Given the description of an element on the screen output the (x, y) to click on. 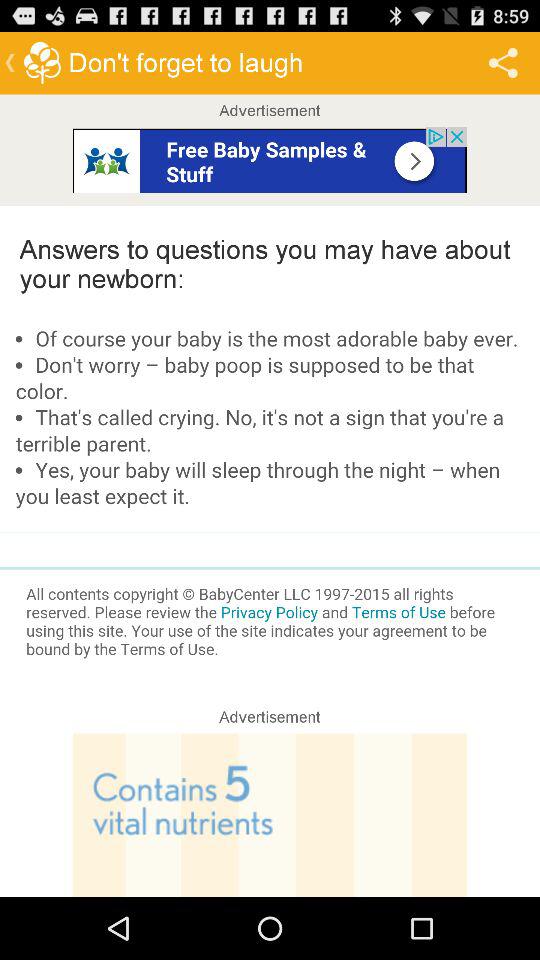
advertisement space (269, 159)
